Given the description of an element on the screen output the (x, y) to click on. 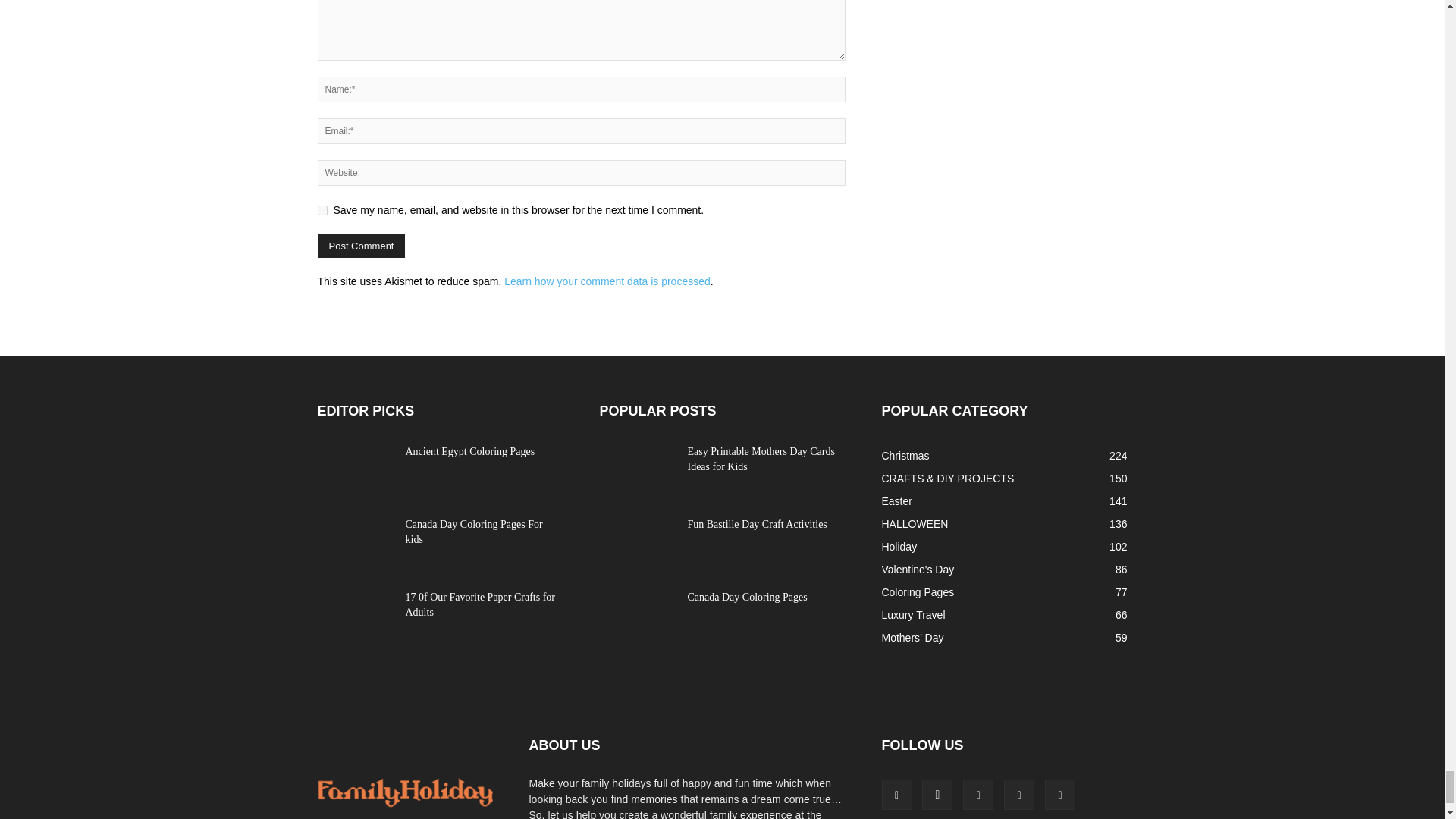
yes (321, 210)
Post Comment (360, 245)
